Given the description of an element on the screen output the (x, y) to click on. 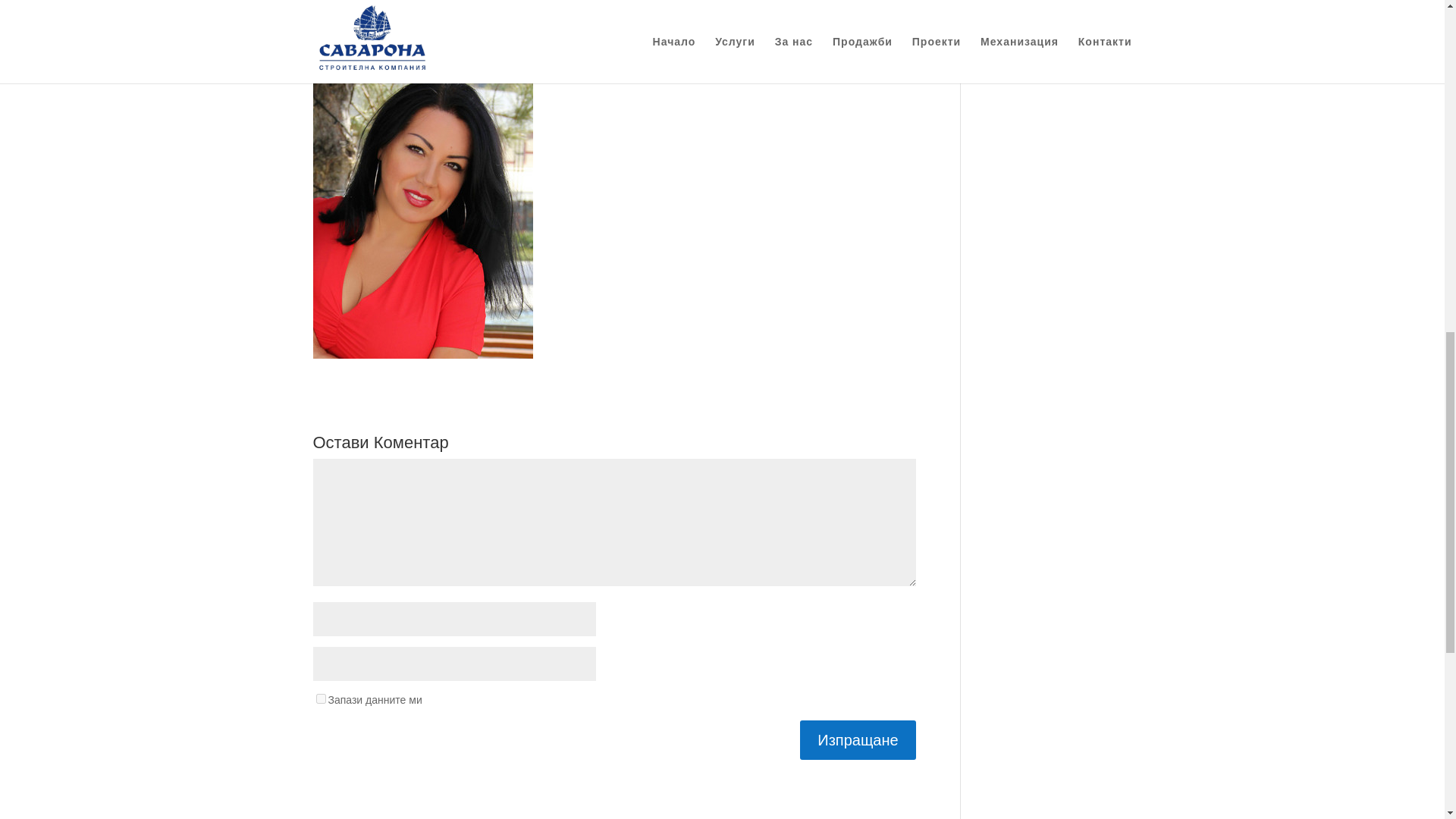
yes (319, 698)
